Given the description of an element on the screen output the (x, y) to click on. 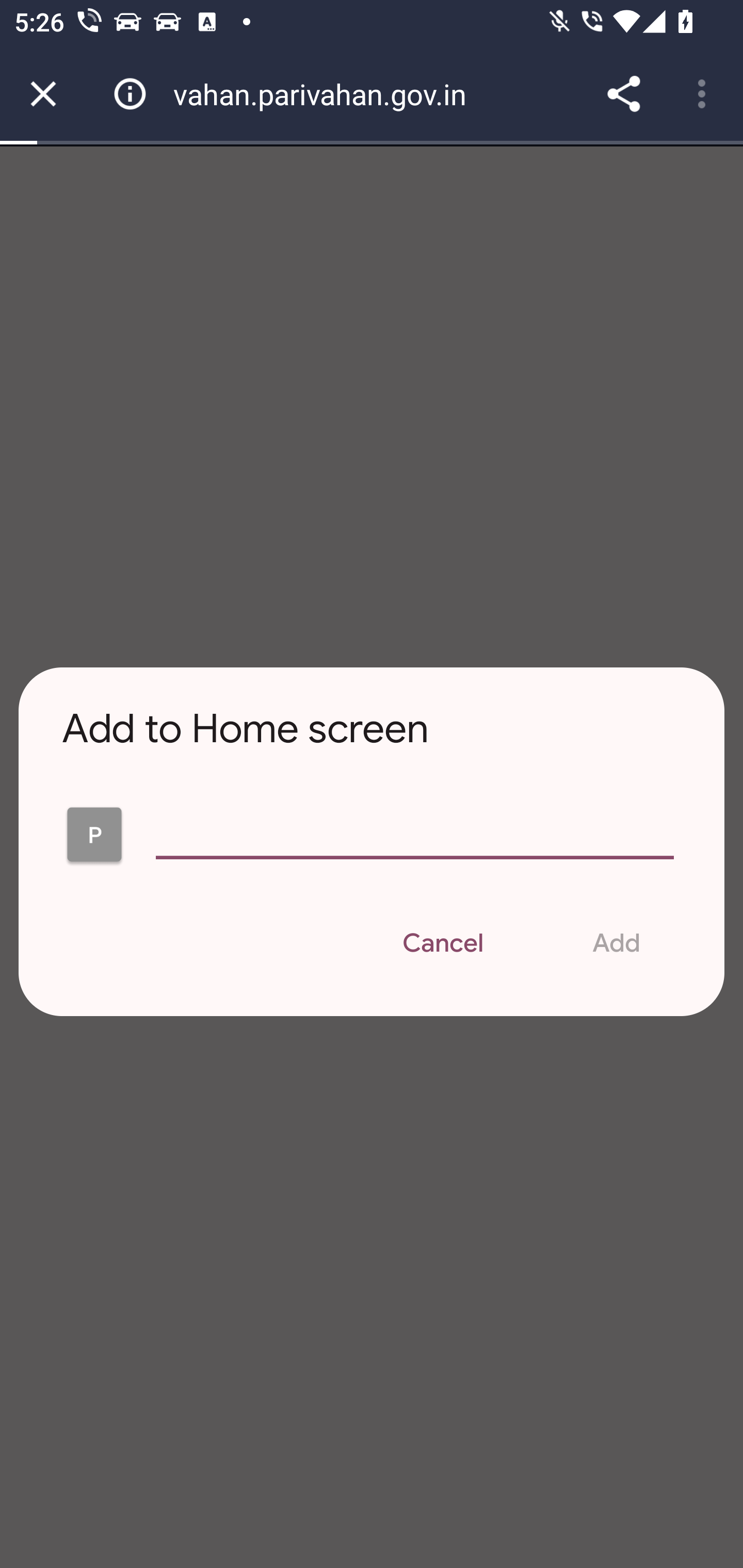
Close tab (43, 93)
Share (623, 93)
Customize and control Google Chrome (705, 93)
Your connection to this site is not secure (129, 93)
vahan.parivahan.gov.in (326, 93)
Cancel (442, 943)
Add (615, 943)
